Given the description of an element on the screen output the (x, y) to click on. 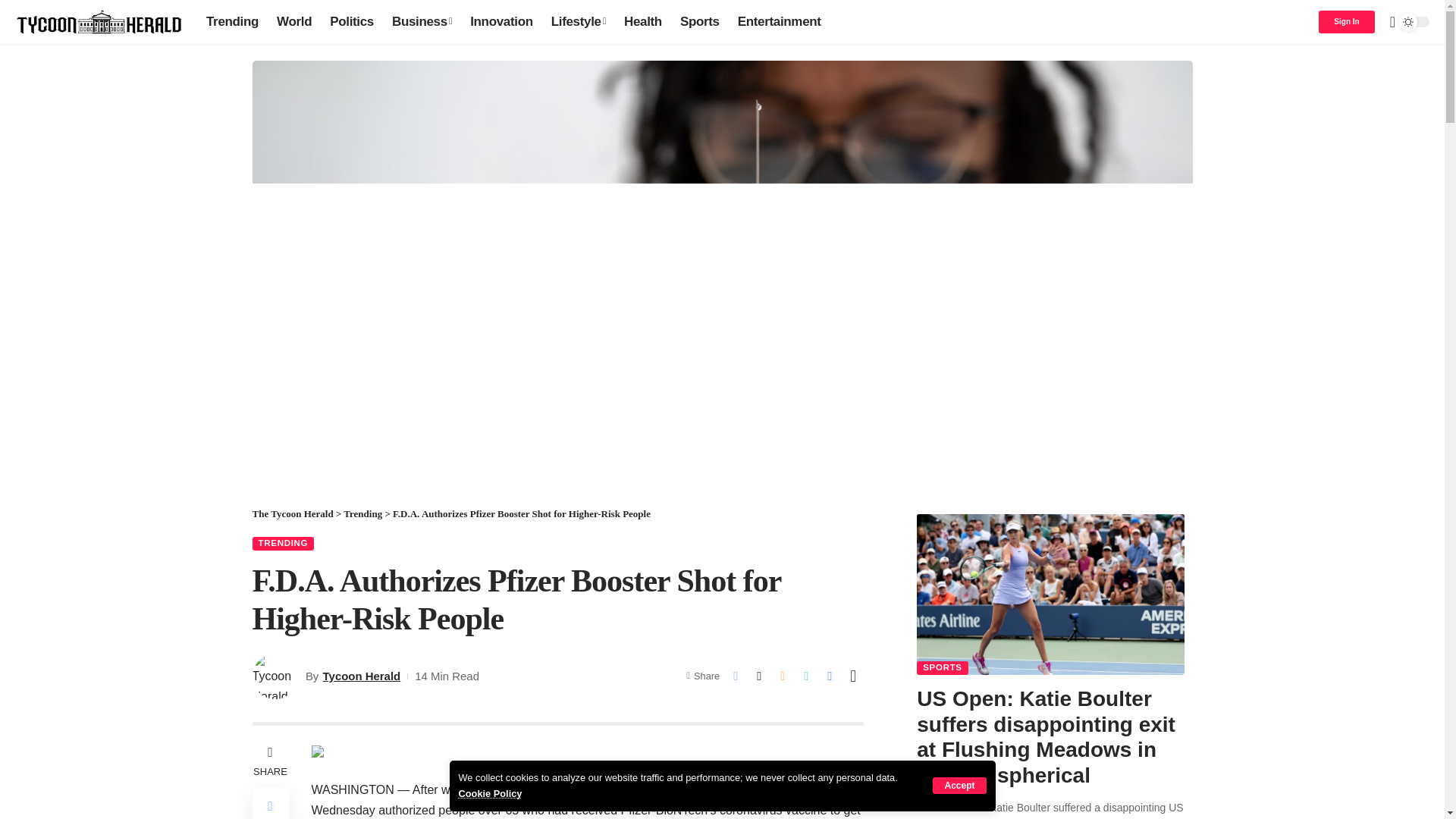
Business (421, 22)
Trending (231, 22)
Accept (959, 785)
Sports (700, 22)
Entertainment (779, 22)
Lifestyle (577, 22)
Innovation (501, 22)
Cookie Policy (489, 793)
World (293, 22)
